Given the description of an element on the screen output the (x, y) to click on. 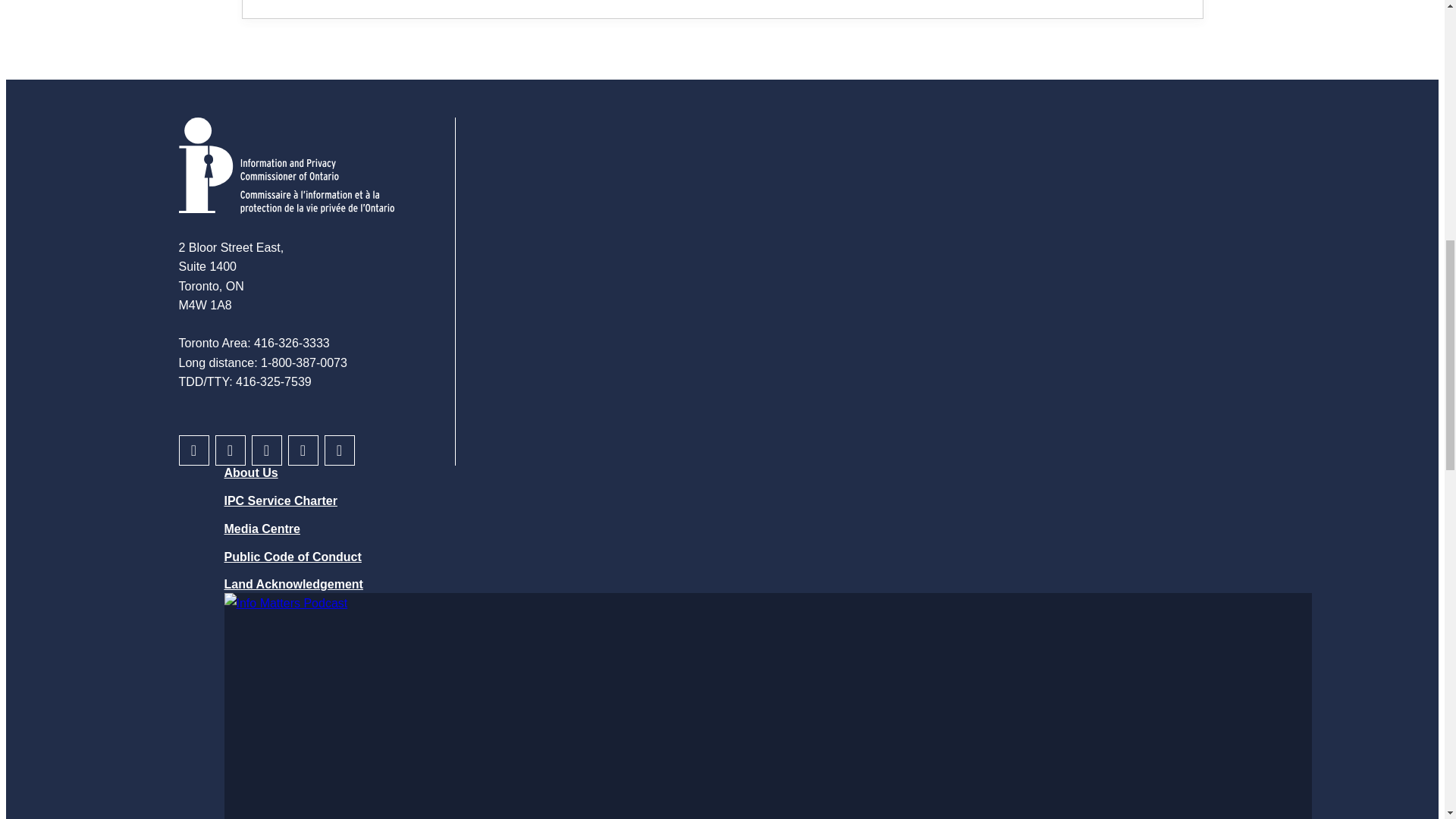
Contact us via Email. (194, 450)
Follow us on Instagram. (230, 450)
Find us on Twitter. (303, 450)
Follow us on Youtube. (339, 450)
Home (286, 165)
Follow us on Linkedin. (266, 450)
